Given the description of an element on the screen output the (x, y) to click on. 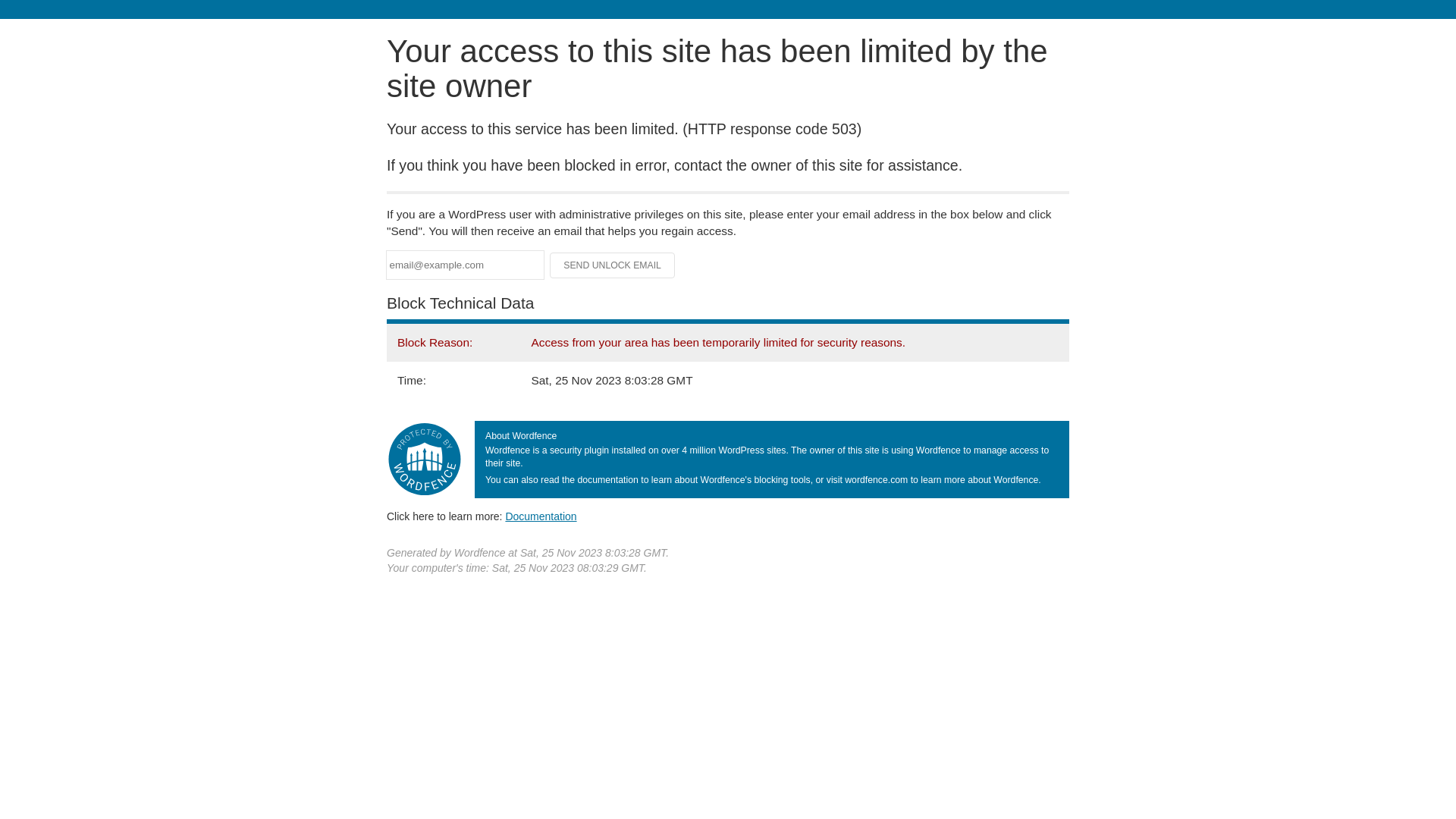
Documentation Element type: text (540, 516)
Send Unlock Email Element type: text (612, 265)
